Given the description of an element on the screen output the (x, y) to click on. 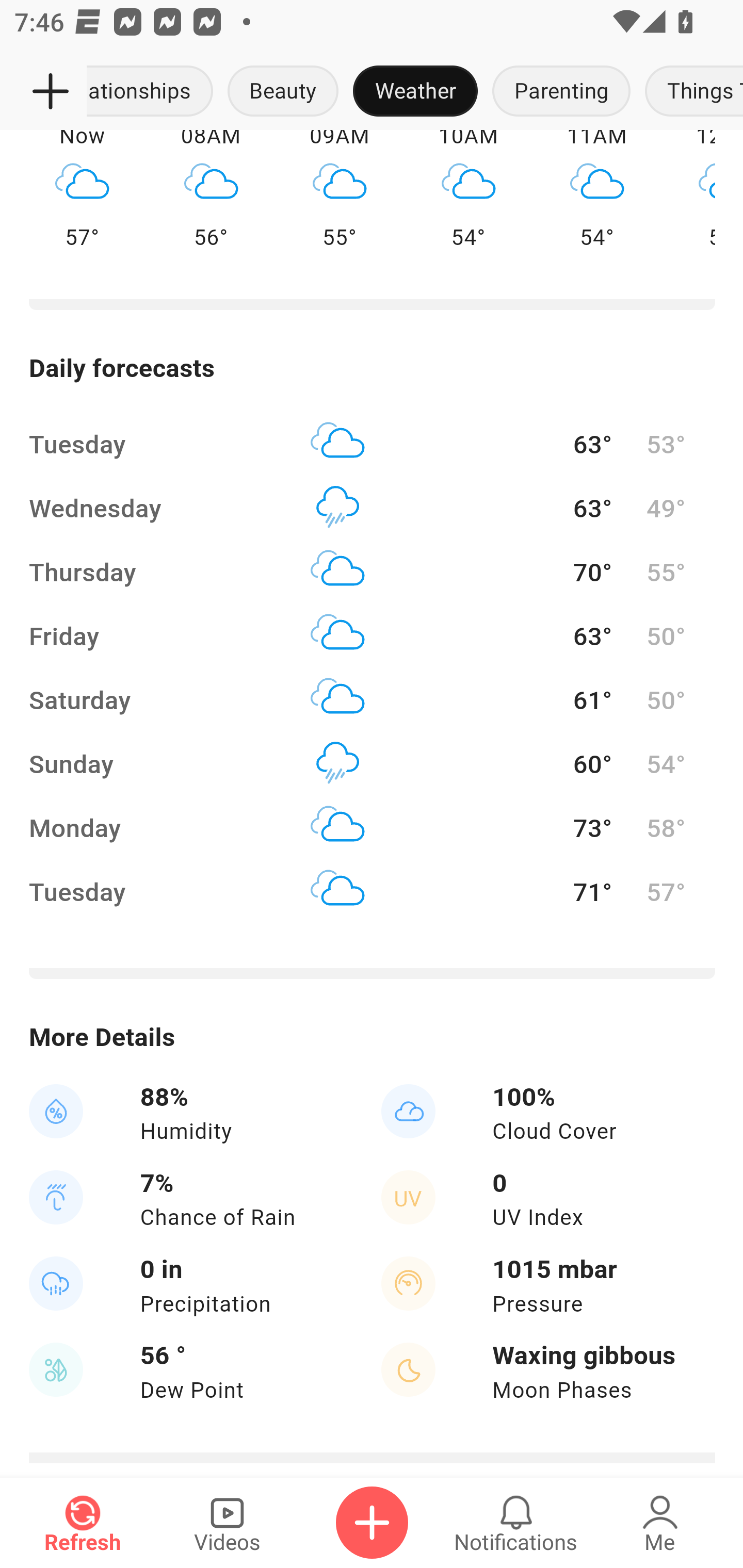
Relationships (153, 91)
Beauty (282, 91)
Weather (415, 91)
Parenting (561, 91)
Things To Do (690, 91)
Videos (227, 1522)
Notifications (516, 1522)
Me (659, 1522)
